Given the description of an element on the screen output the (x, y) to click on. 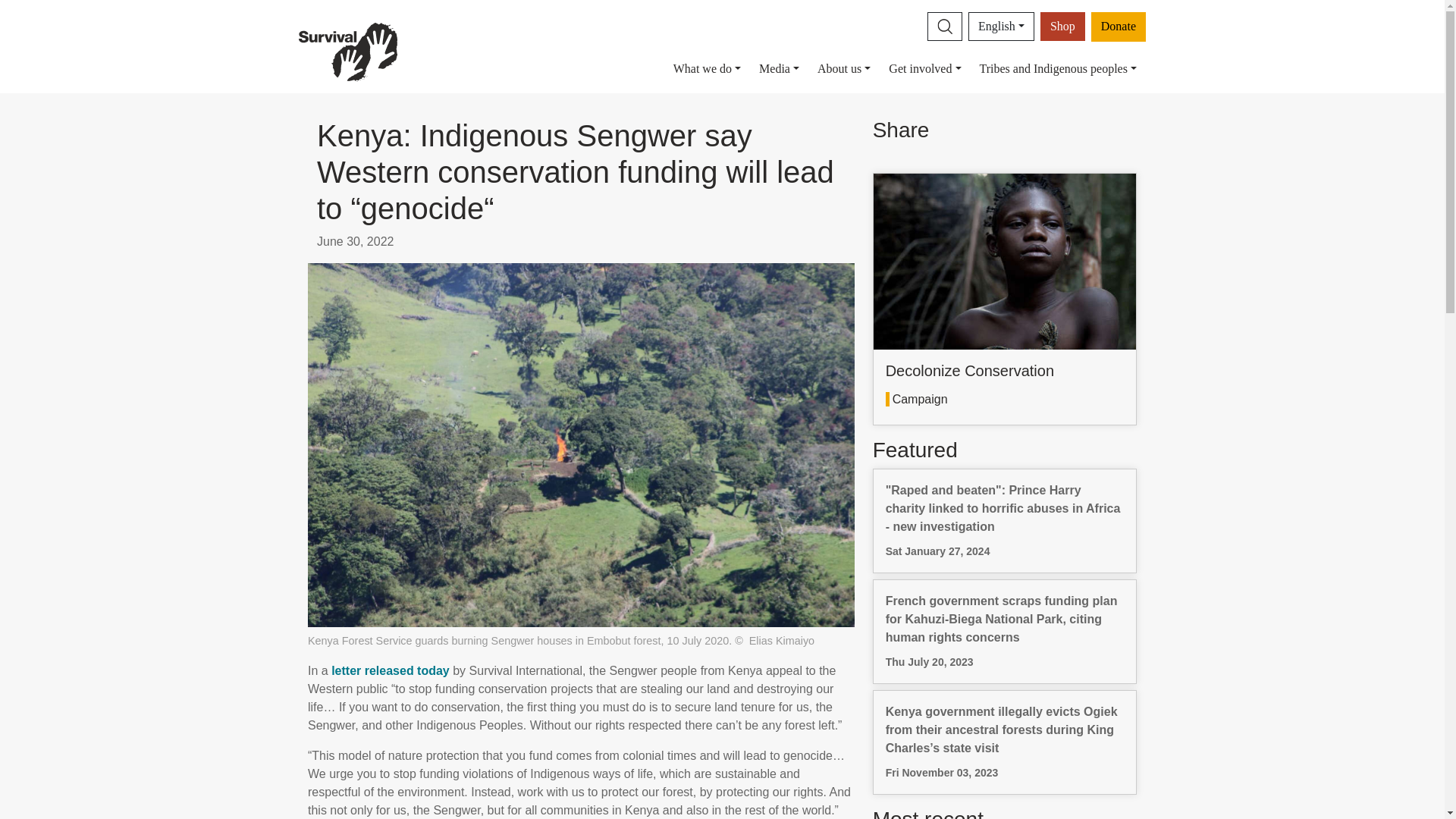
Survival International (347, 50)
